Given the description of an element on the screen output the (x, y) to click on. 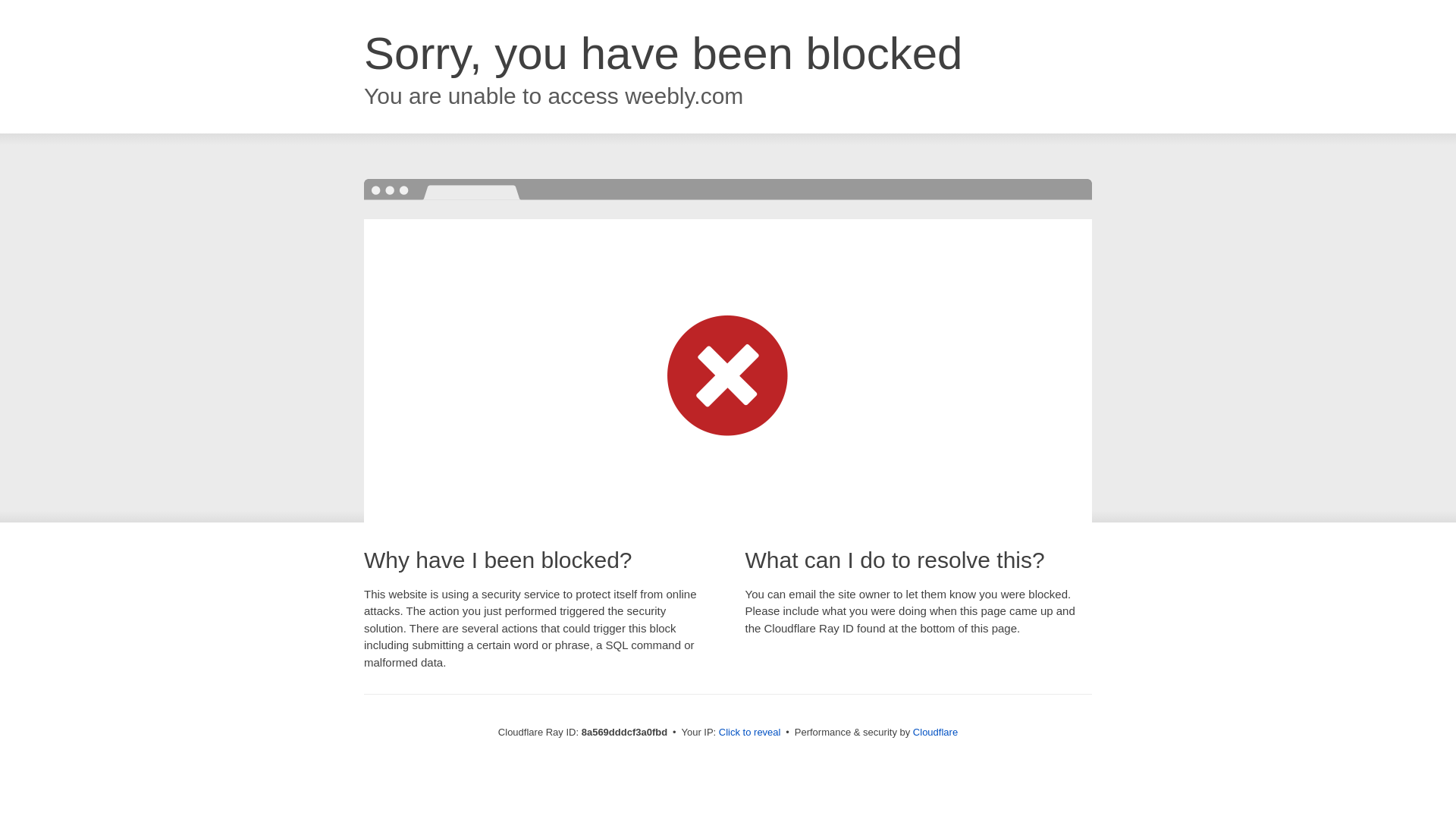
Click to reveal (749, 732)
Cloudflare (935, 731)
